Given the description of an element on the screen output the (x, y) to click on. 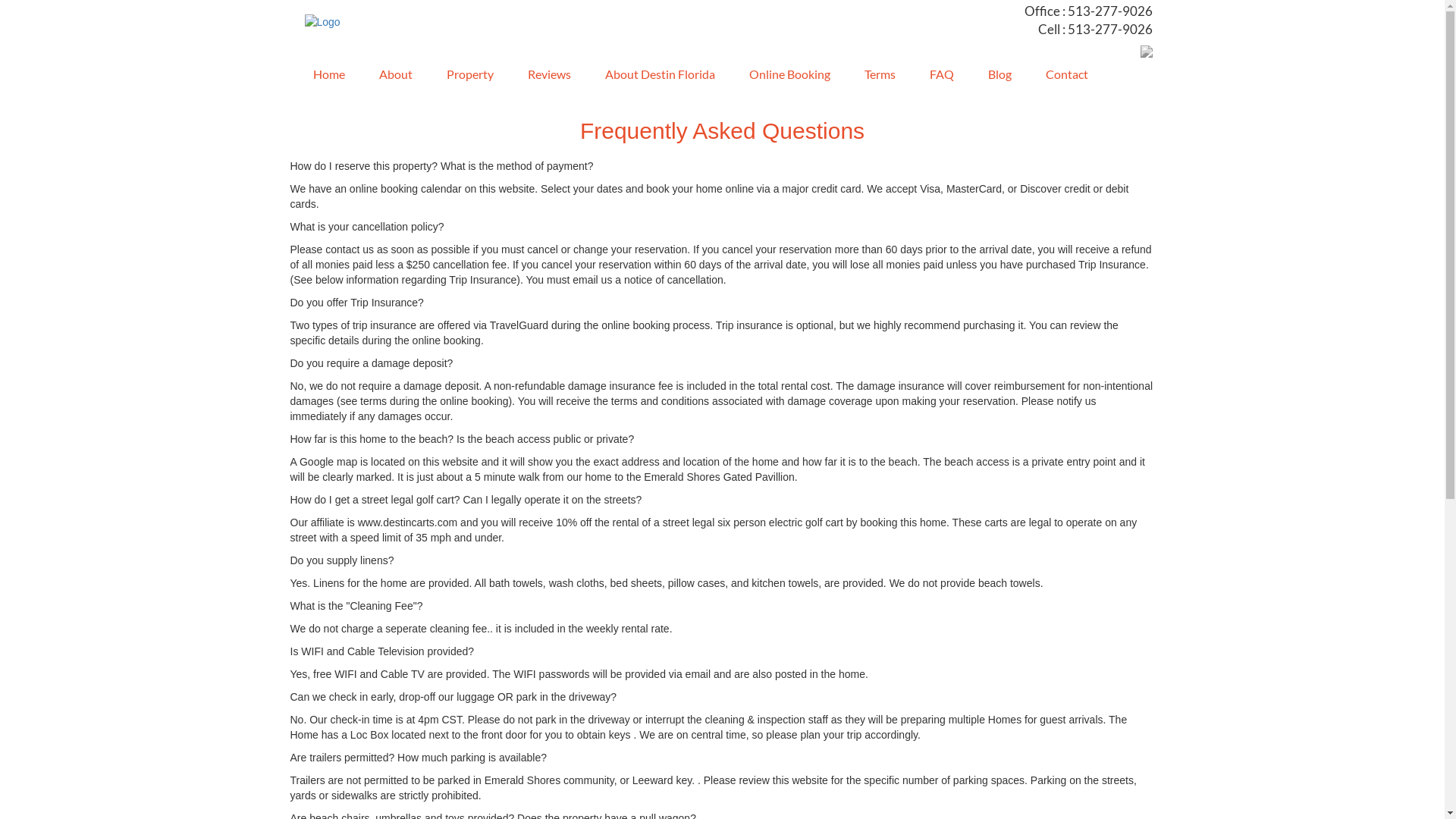
Online Booking Element type: text (783, 76)
About Element type: text (389, 76)
About Destin Florida Element type: text (654, 76)
Facebook Element type: hover (1146, 50)
Property Element type: text (463, 76)
Home Element type: text (322, 76)
Reviews Element type: text (543, 76)
FAQ Element type: text (935, 76)
Terms Element type: text (873, 76)
Blog Element type: text (993, 76)
Contact Element type: text (1060, 76)
